Given the description of an element on the screen output the (x, y) to click on. 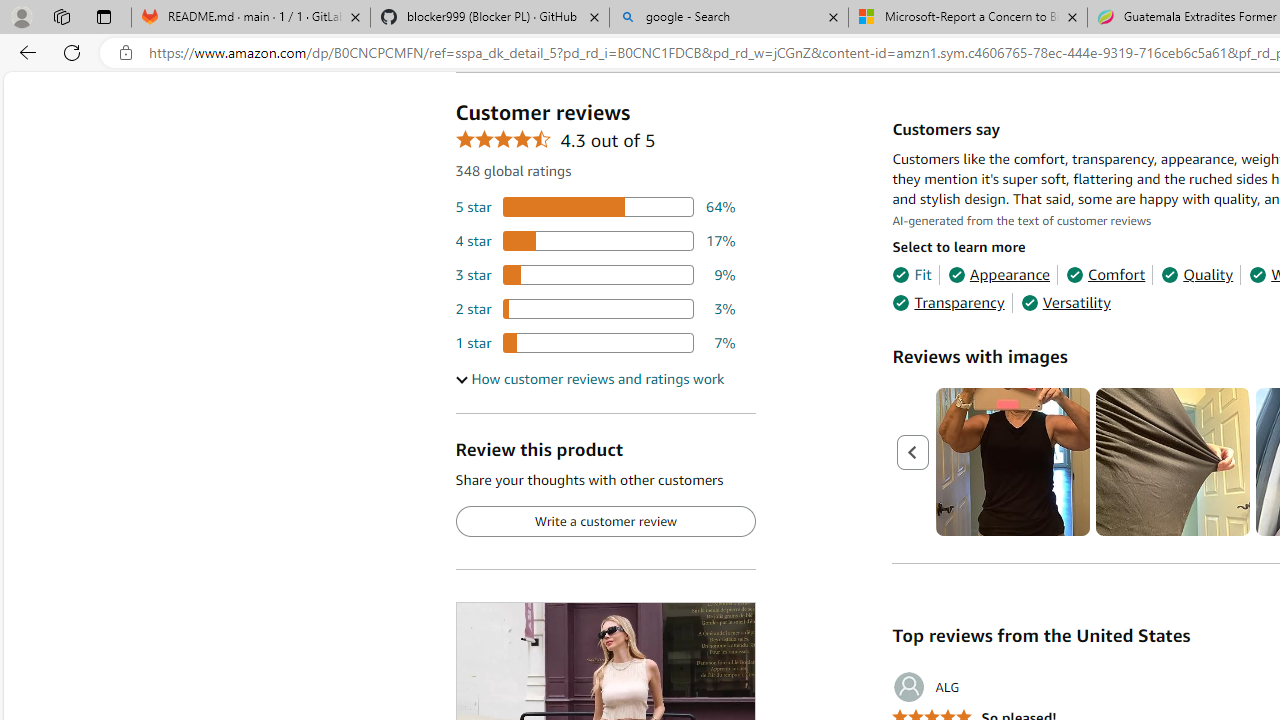
Customer Image (1172, 462)
64 percent of reviews have 5 stars (595, 207)
Class: a-carousel-card (1173, 462)
Fit (911, 274)
How customer reviews and ratings work (589, 379)
3 percent of reviews have 2 stars (595, 308)
Write a customer review (605, 521)
Comfort (1105, 274)
